Given the description of an element on the screen output the (x, y) to click on. 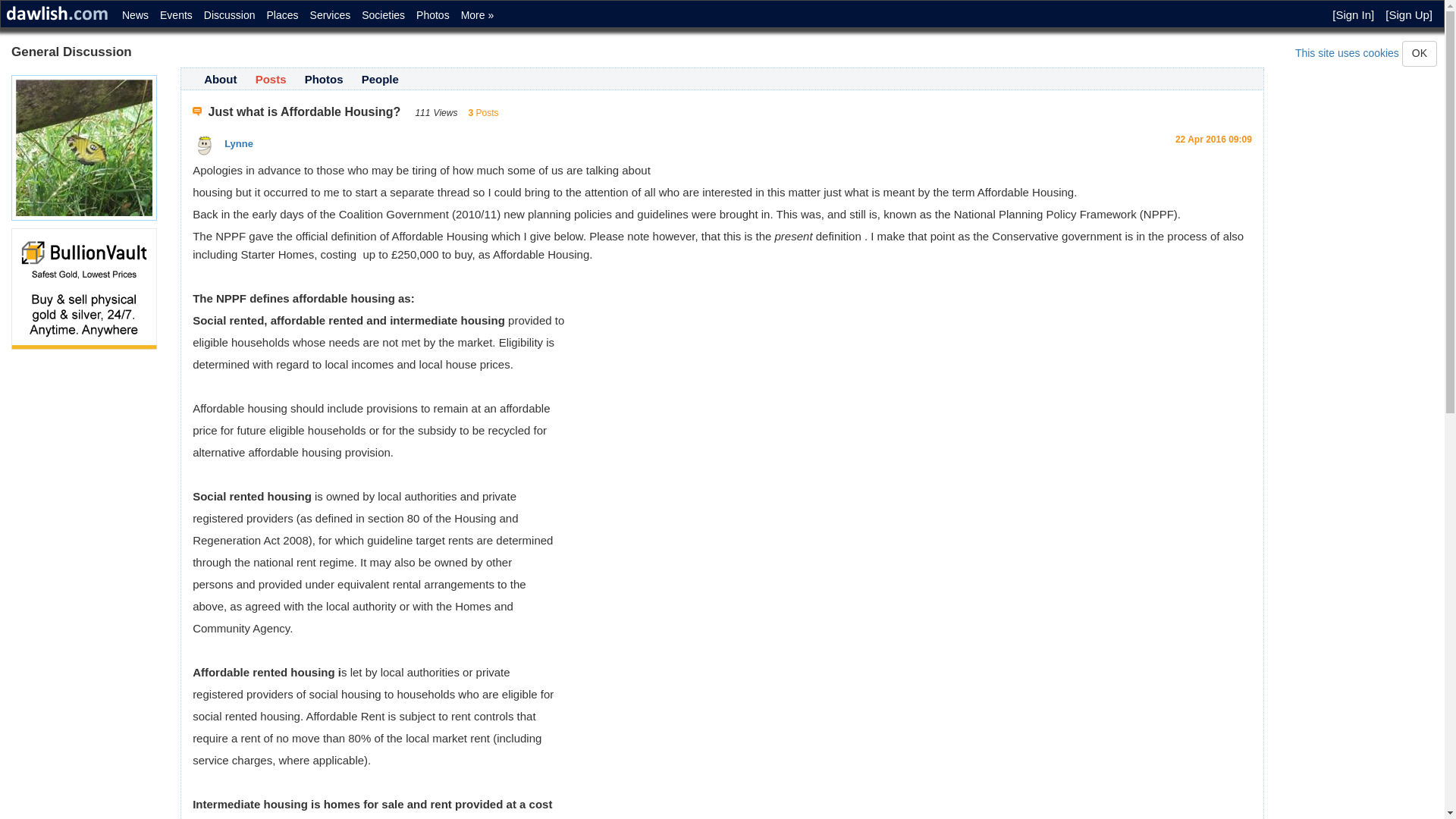
Places (280, 11)
A questionable butterfly (84, 147)
BullionVault (84, 288)
Services (328, 11)
dawlish.com (58, 13)
People (379, 78)
Photos (323, 78)
Discussion (227, 11)
News (133, 11)
Societies (381, 11)
About (219, 78)
Lynne (204, 145)
OK (1419, 53)
Posts (271, 78)
Photos (430, 11)
